Given the description of an element on the screen output the (x, y) to click on. 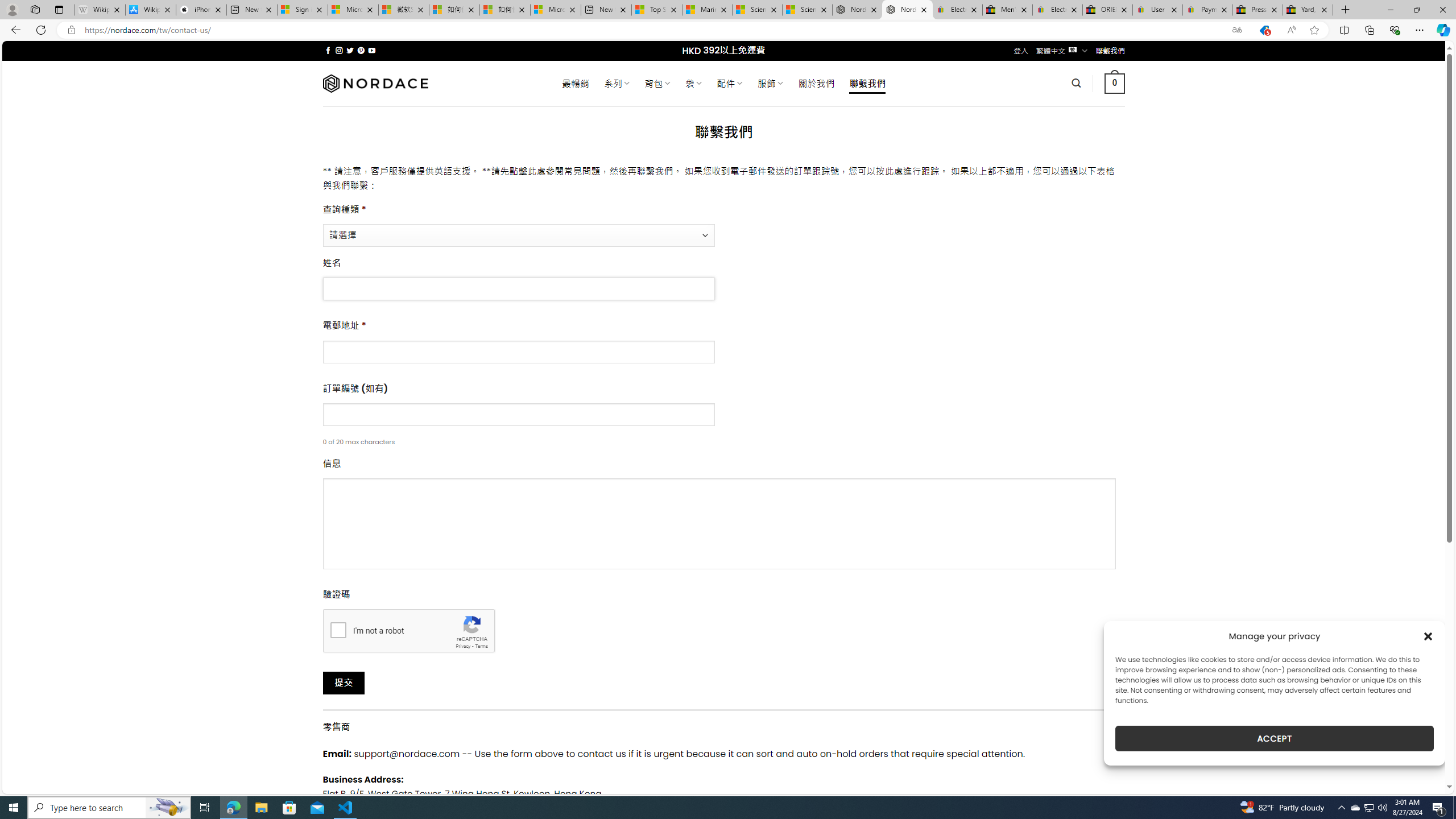
Payments Terms of Use | eBay.com (1207, 9)
